Given the description of an element on the screen output the (x, y) to click on. 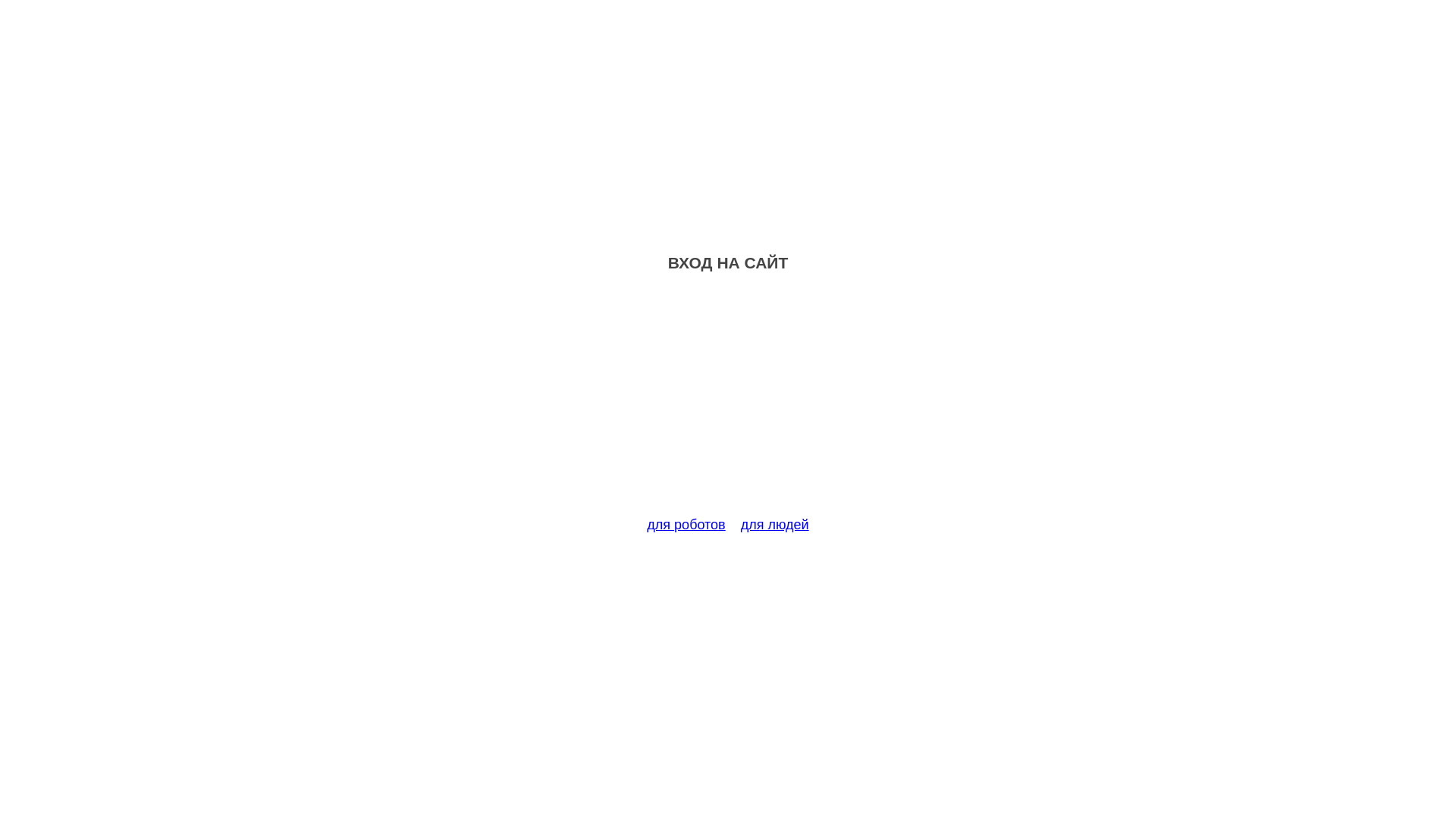
Advertisement Element type: hover (727, 403)
